Given the description of an element on the screen output the (x, y) to click on. 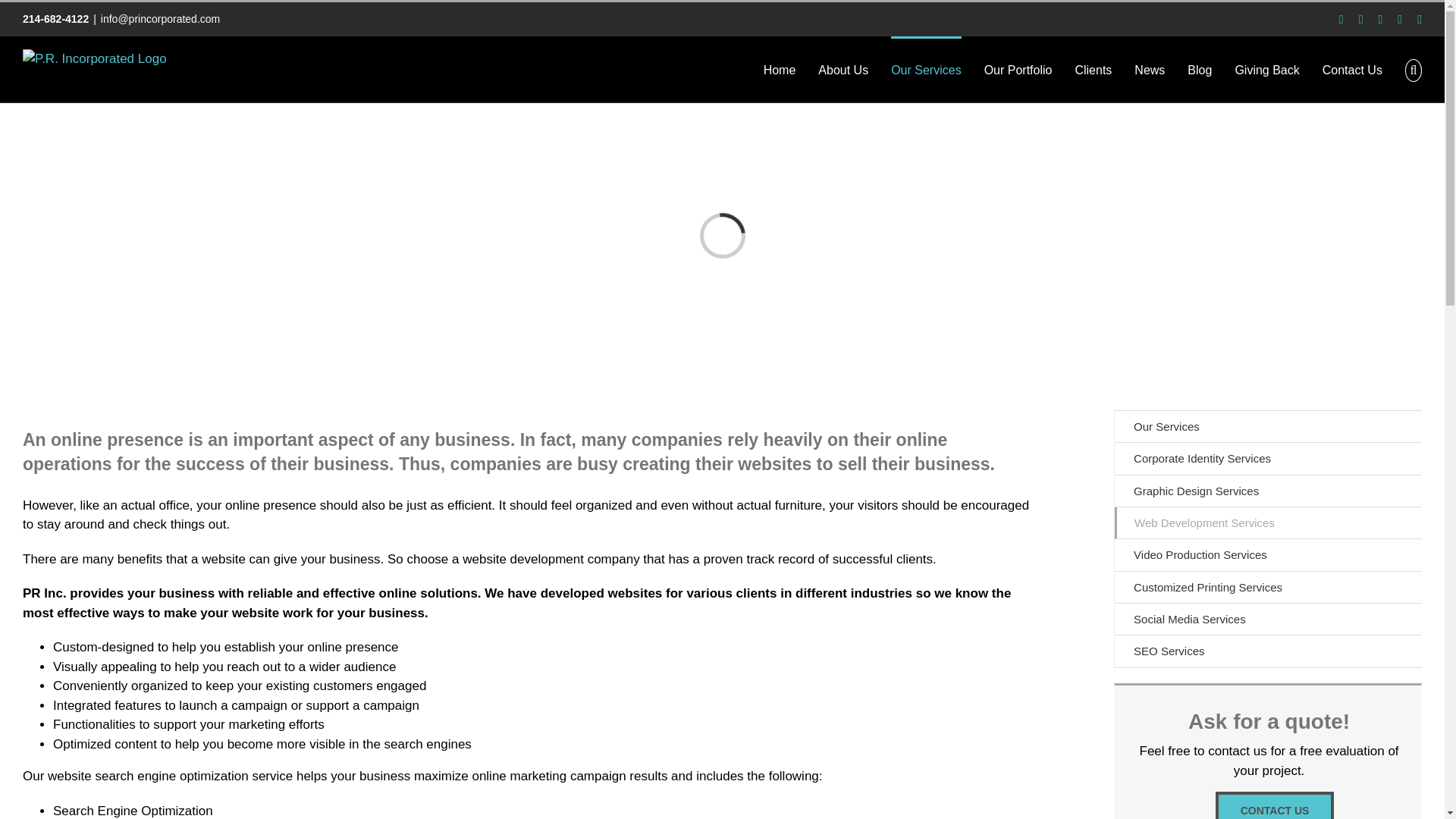
Our Services (925, 69)
214-682-4122 (55, 19)
Giving Back (1266, 69)
Our Portfolio (1018, 69)
